Given the description of an element on the screen output the (x, y) to click on. 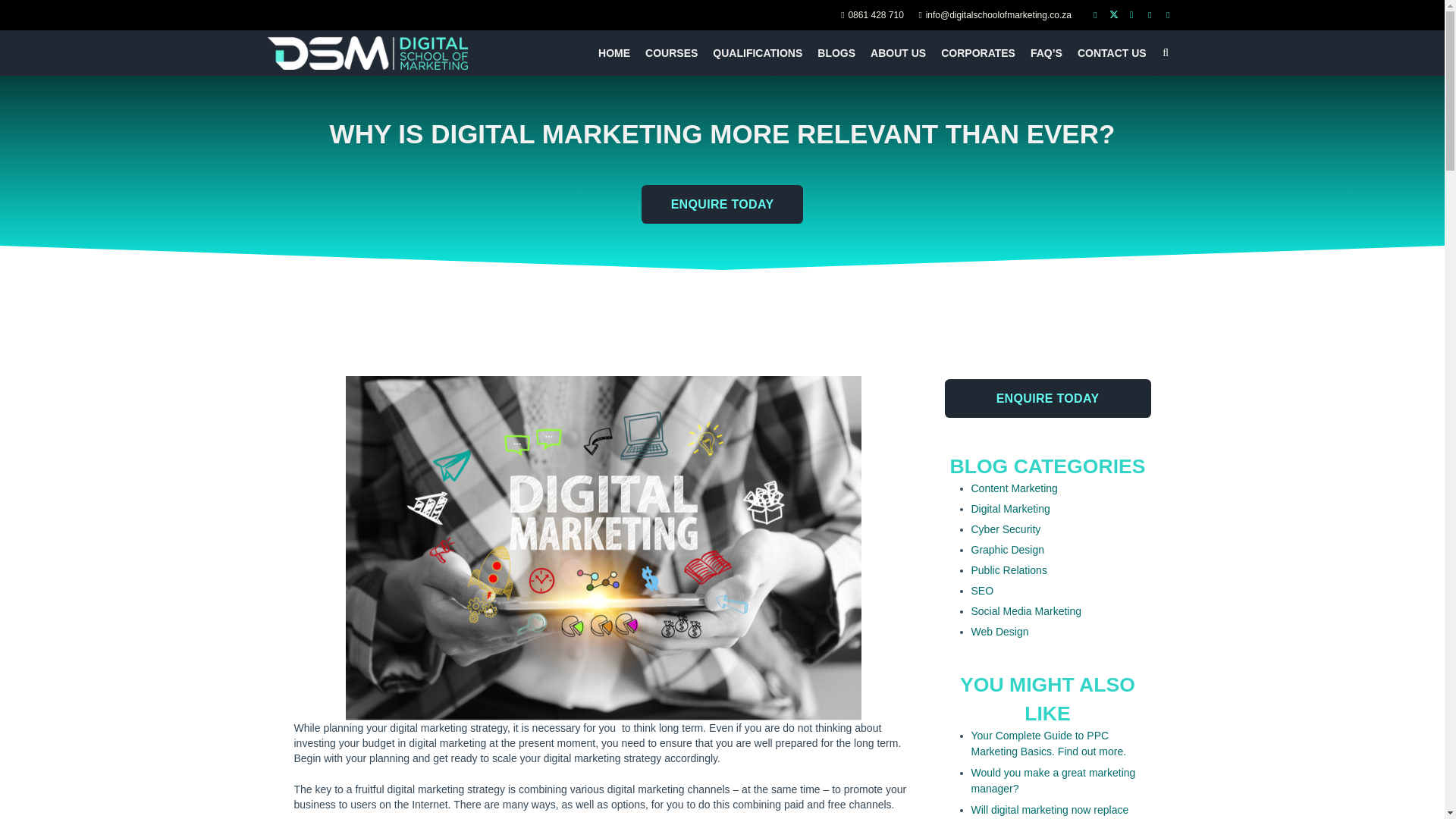
Facebook (1094, 14)
HOME (614, 53)
COURSES (670, 53)
LinkedIn (1167, 14)
0861 428 710 (872, 14)
Instagram (1131, 14)
Twitter (1112, 14)
YouTube (1149, 14)
